Given the description of an element on the screen output the (x, y) to click on. 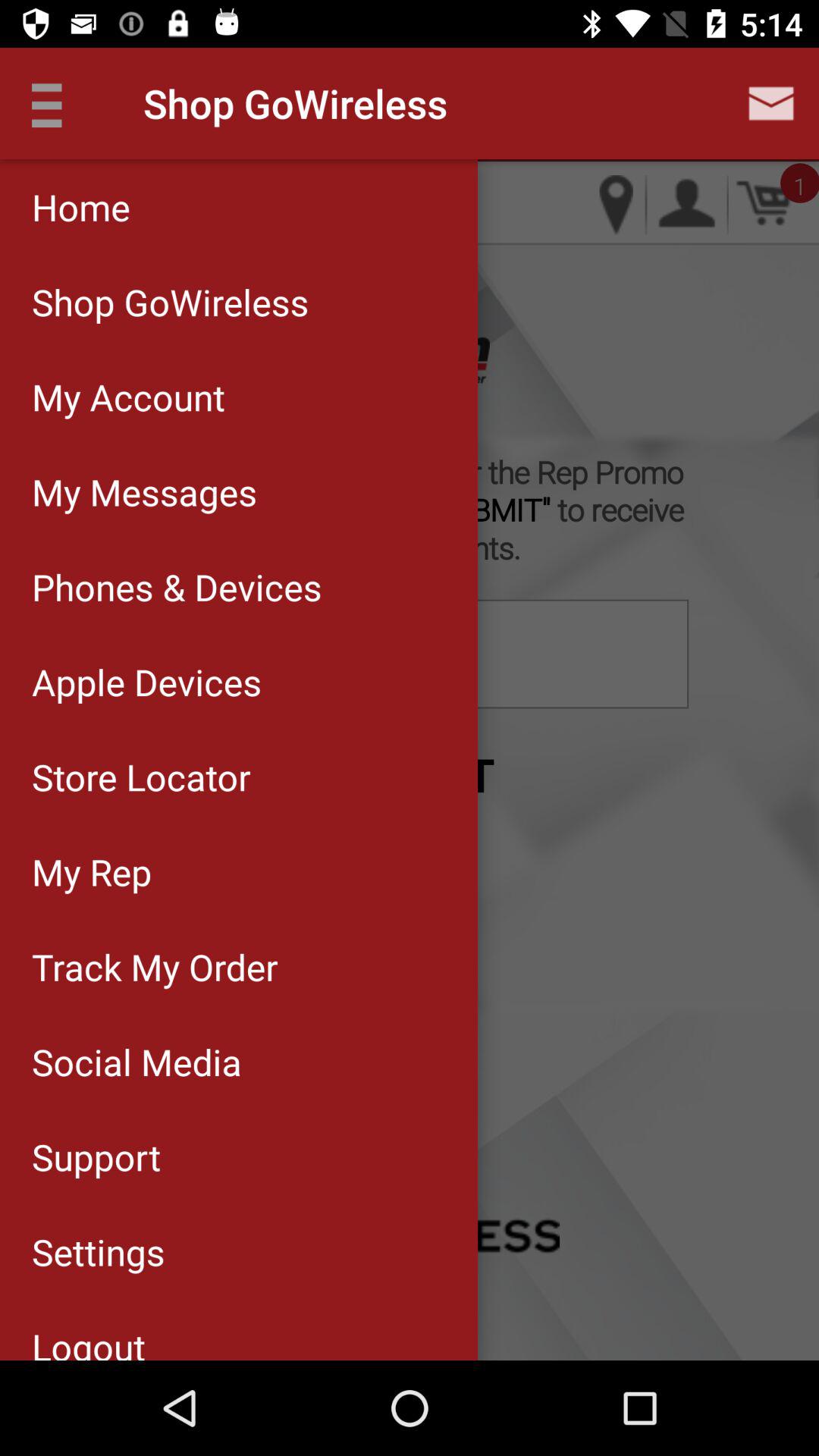
swipe to logout item (238, 1329)
